Given the description of an element on the screen output the (x, y) to click on. 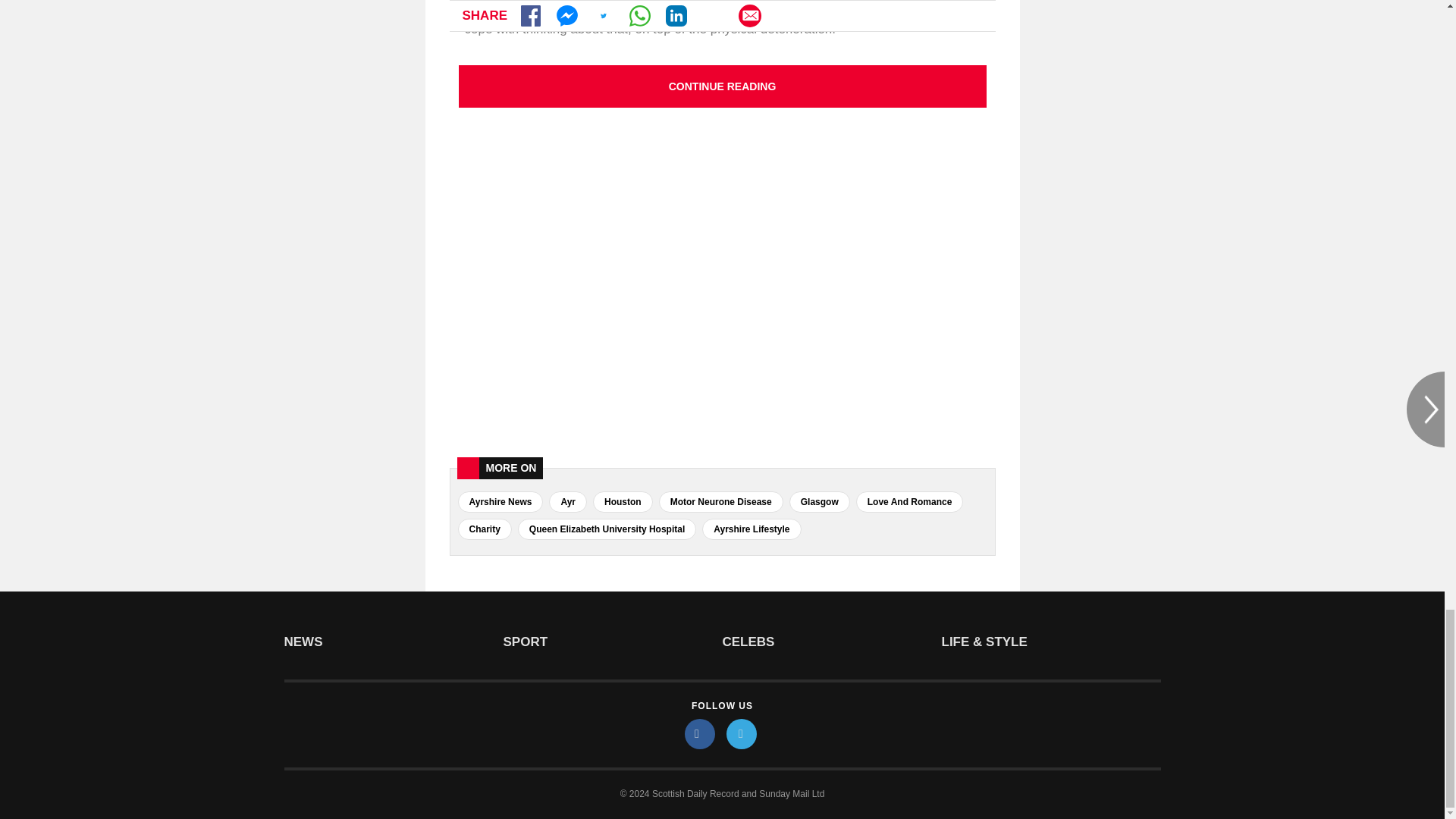
Ayrshire News (500, 501)
CONTINUE READING (721, 86)
Motor Neurone Disease (721, 501)
CELEBS (831, 642)
Queen Elizabeth University Hospital (606, 528)
Love And Romance (909, 501)
Charity (485, 528)
SPORT (612, 642)
Glasgow (819, 501)
NEWS (392, 642)
Houston (622, 501)
Ayrshire Lifestyle (750, 528)
Ayr (567, 501)
CONTINUE READING (721, 85)
